Given the description of an element on the screen output the (x, y) to click on. 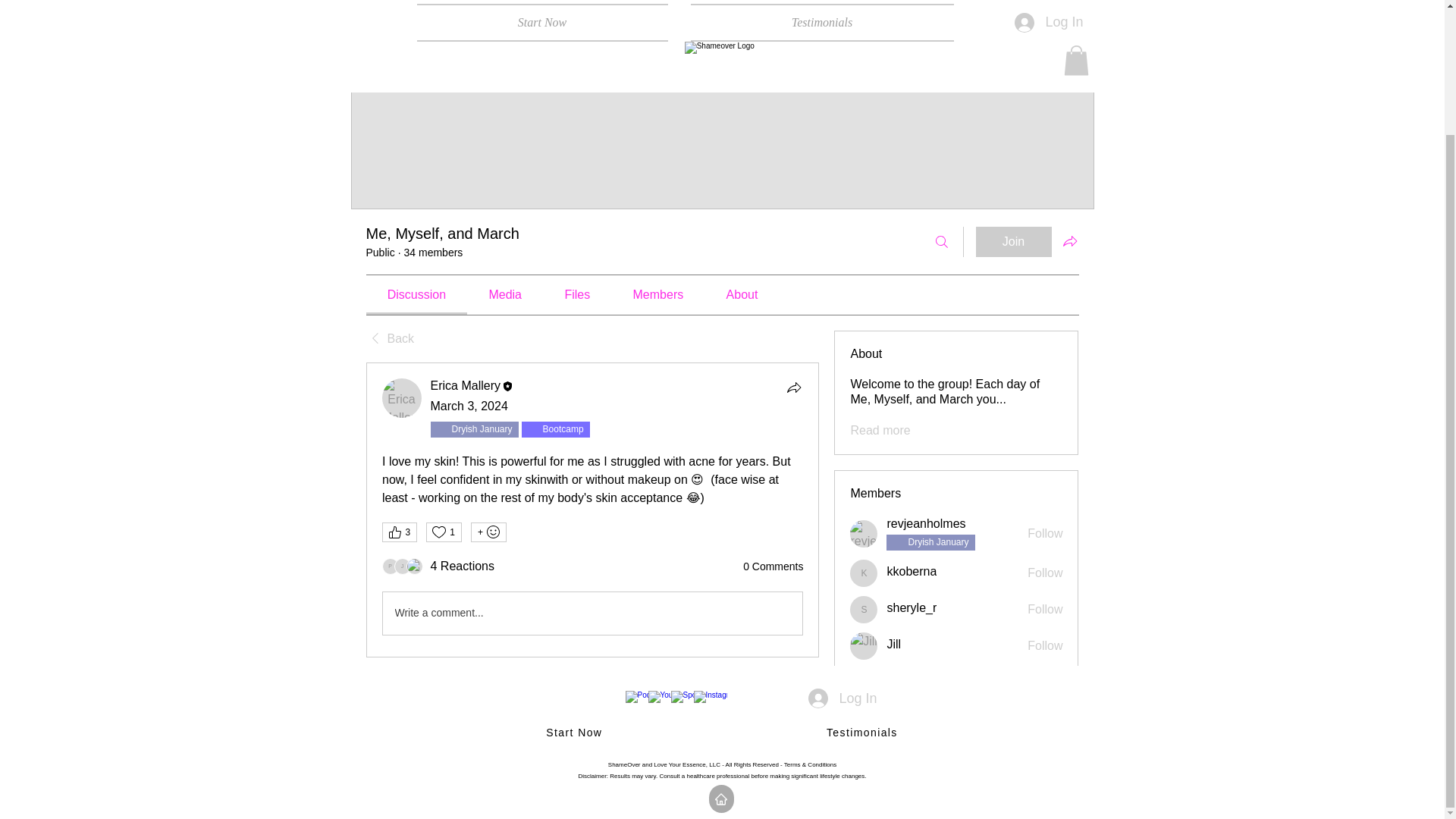
Erica Mallery (465, 385)
Home (381, 7)
Read more (880, 430)
March 3, 2024 (469, 405)
campbece (414, 565)
Groups (441, 7)
Erica Mallery (401, 397)
Nico (863, 686)
Back (389, 338)
